Given the description of an element on the screen output the (x, y) to click on. 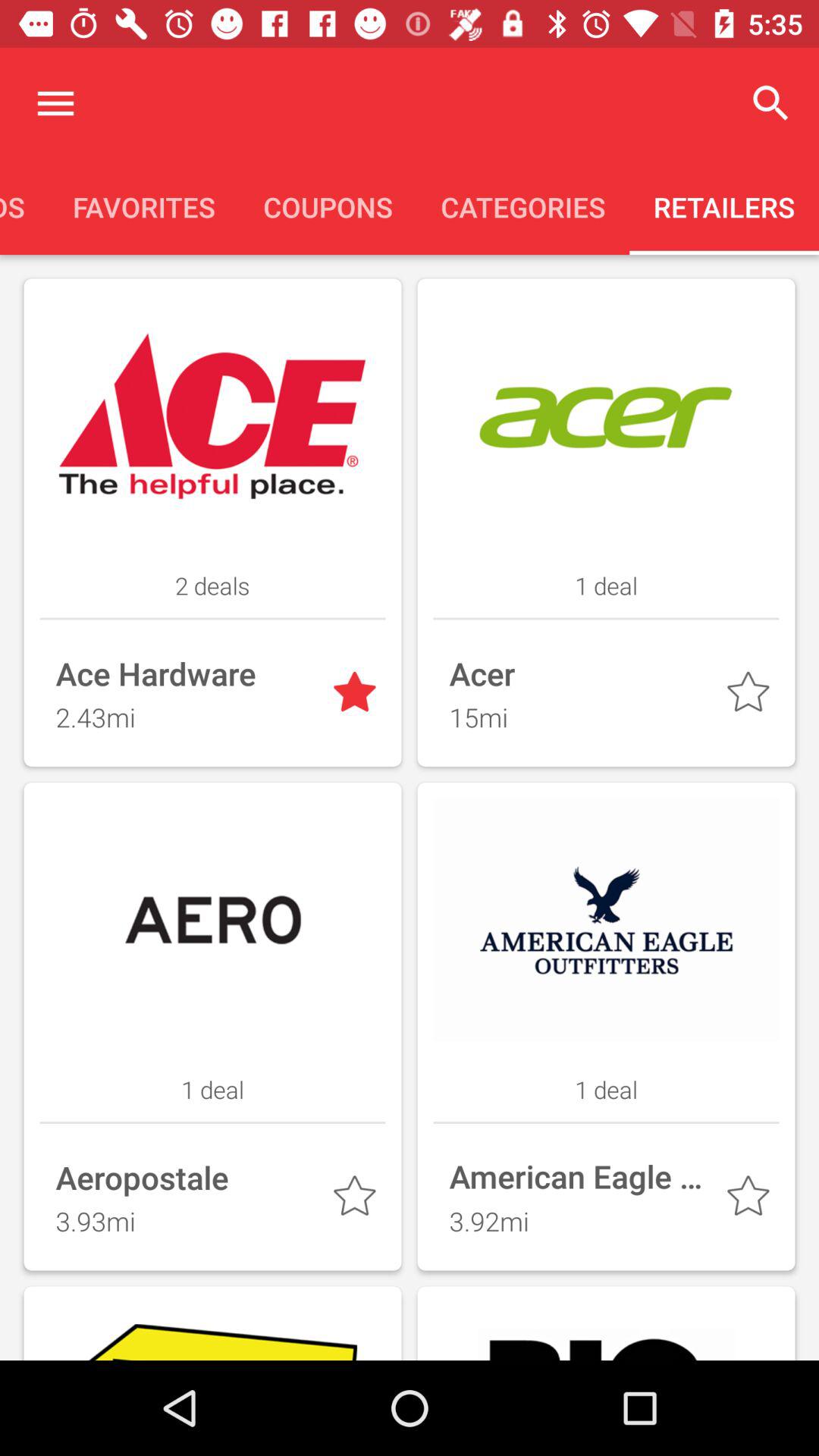
open menu (55, 103)
